Given the description of an element on the screen output the (x, y) to click on. 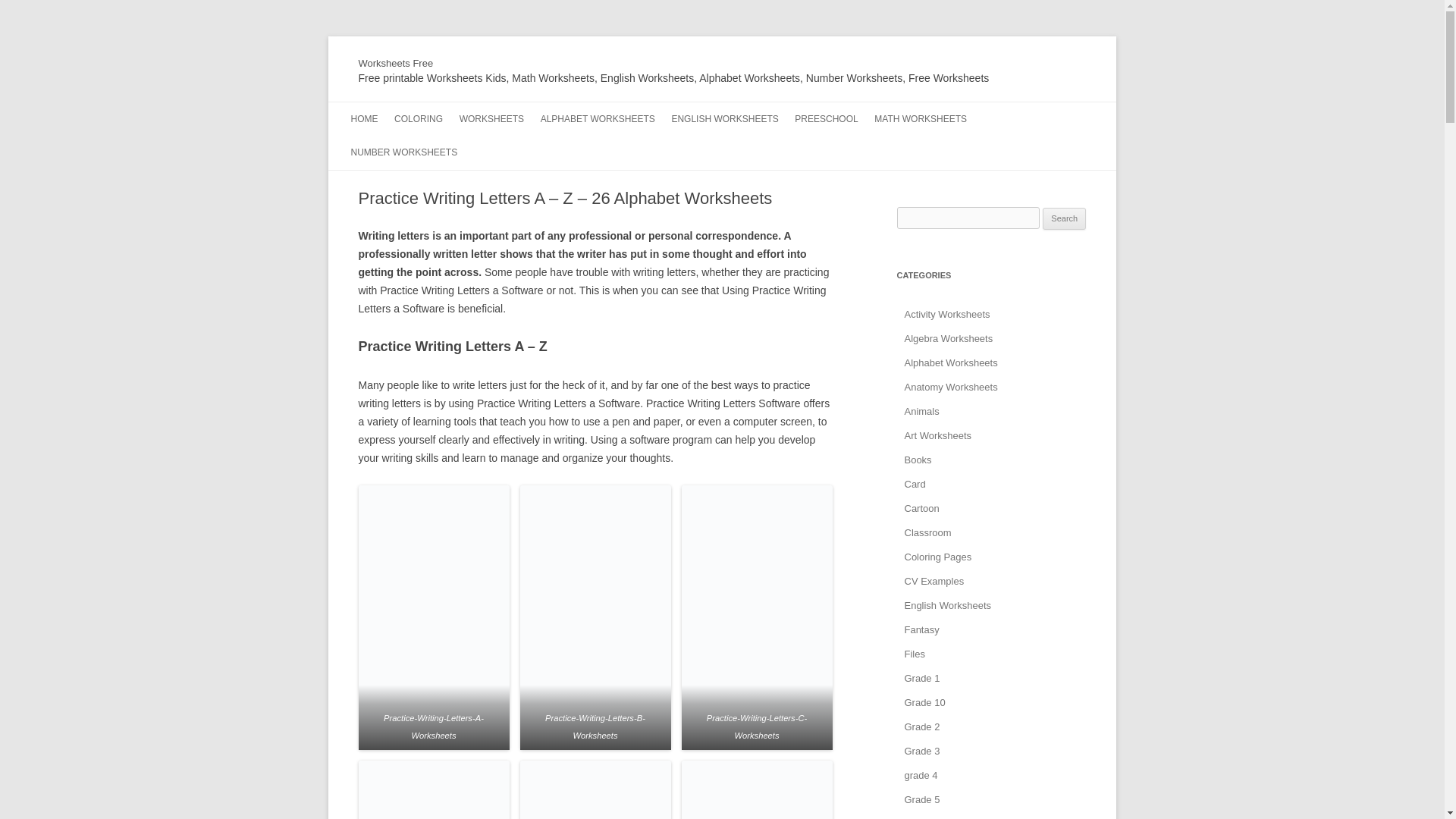
ALPHABET WORKSHEETS (597, 118)
ENGLISH WORKSHEETS (724, 118)
MATH WORKSHEETS (920, 118)
NUMBER WORKSHEETS (403, 151)
Search (1064, 219)
PREESCHOOL (825, 118)
Worksheets Free (395, 63)
COLORING (418, 118)
